Given the description of an element on the screen output the (x, y) to click on. 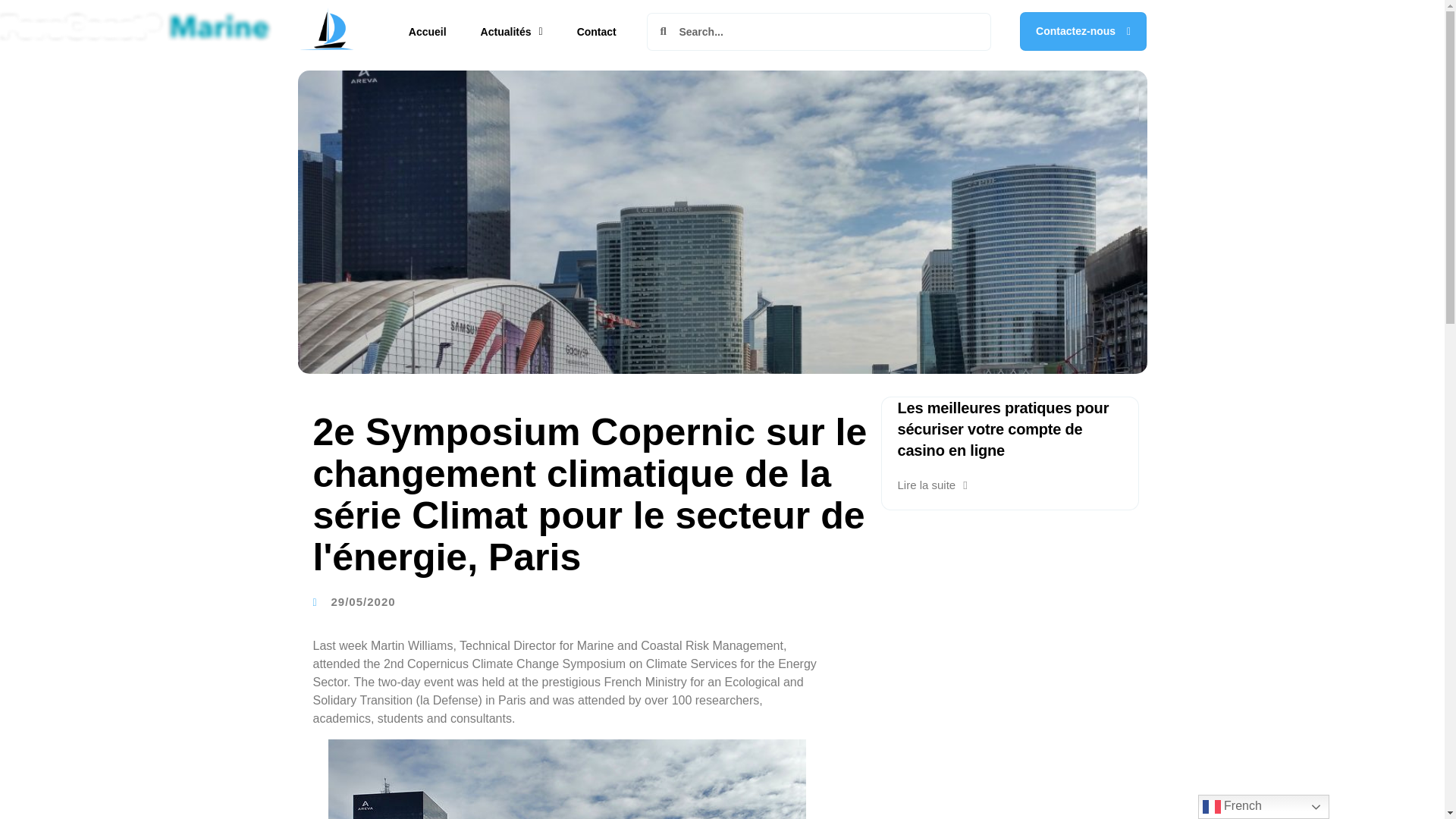
Le Defense, Paris (566, 779)
Contact (596, 31)
Contactez-nous (1083, 31)
Accueil (427, 31)
